Given the description of an element on the screen output the (x, y) to click on. 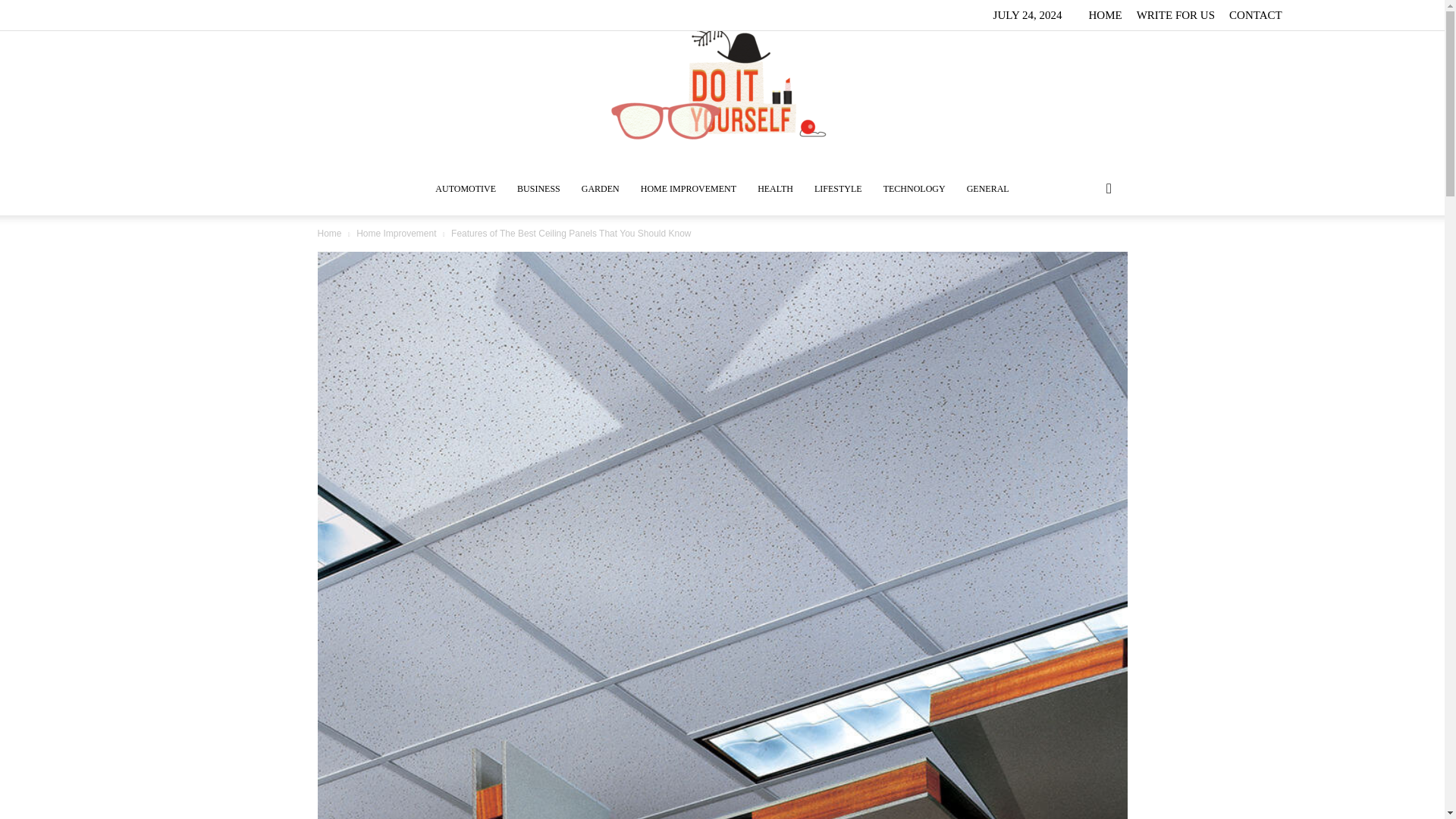
AUTOMOTIVE (465, 188)
WRITE FOR US (1175, 15)
BUSINESS (538, 188)
GARDEN (600, 188)
CONTACT (1255, 15)
View all posts in Home Improvement (395, 233)
TECHNOLOGY (914, 188)
HEALTH (774, 188)
HOME IMPROVEMENT (688, 188)
LIFESTYLE (837, 188)
HOME (1104, 15)
